Given the description of an element on the screen output the (x, y) to click on. 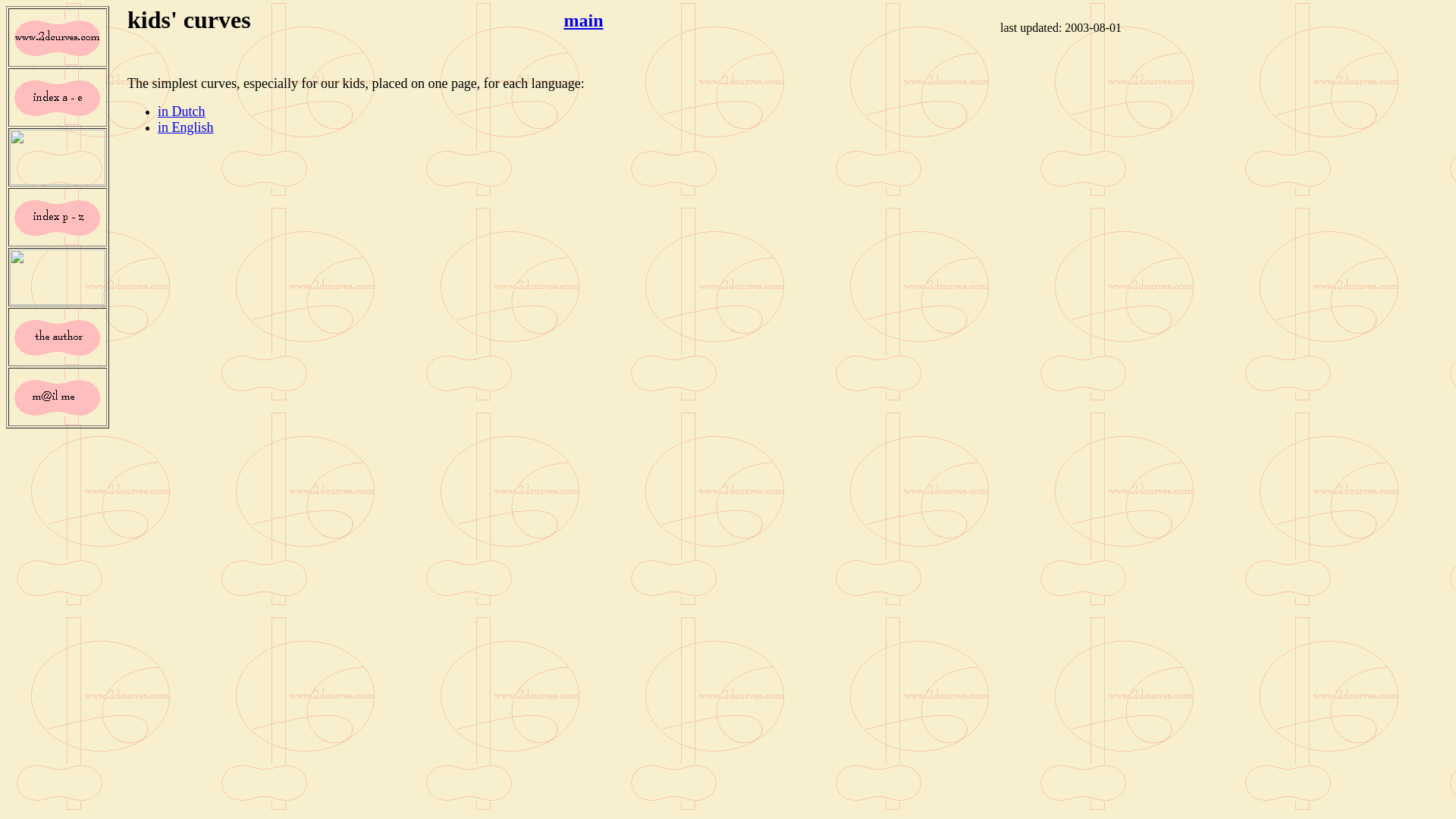
in Dutch Element type: text (181, 111)
main Element type: text (583, 20)
in English Element type: text (185, 126)
